Given the description of an element on the screen output the (x, y) to click on. 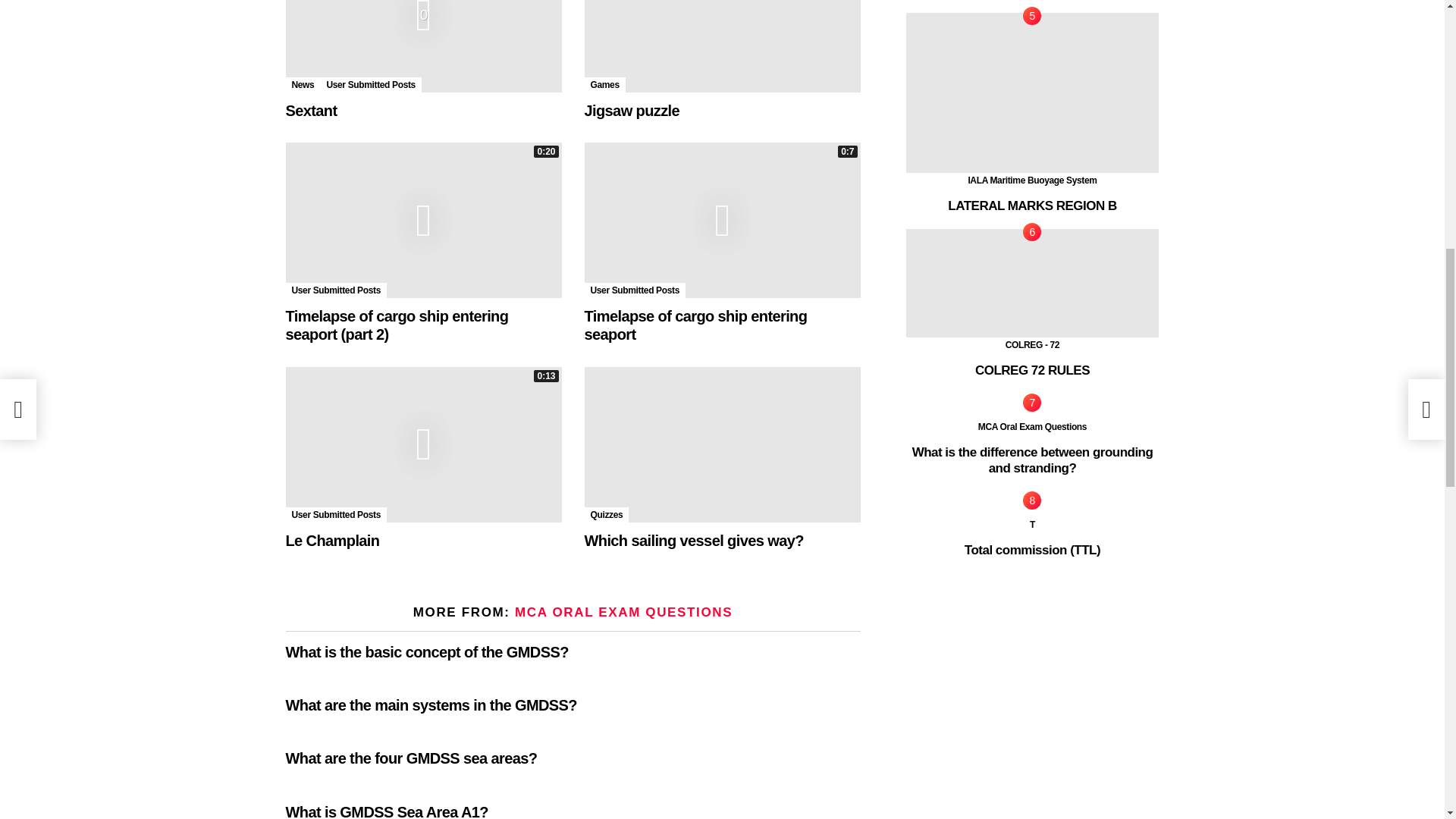
Jigsaw puzzle (721, 46)
Le Champlain (422, 444)
Sextant (422, 46)
Timelapse of cargo ship entering seaport (721, 220)
